Given the description of an element on the screen output the (x, y) to click on. 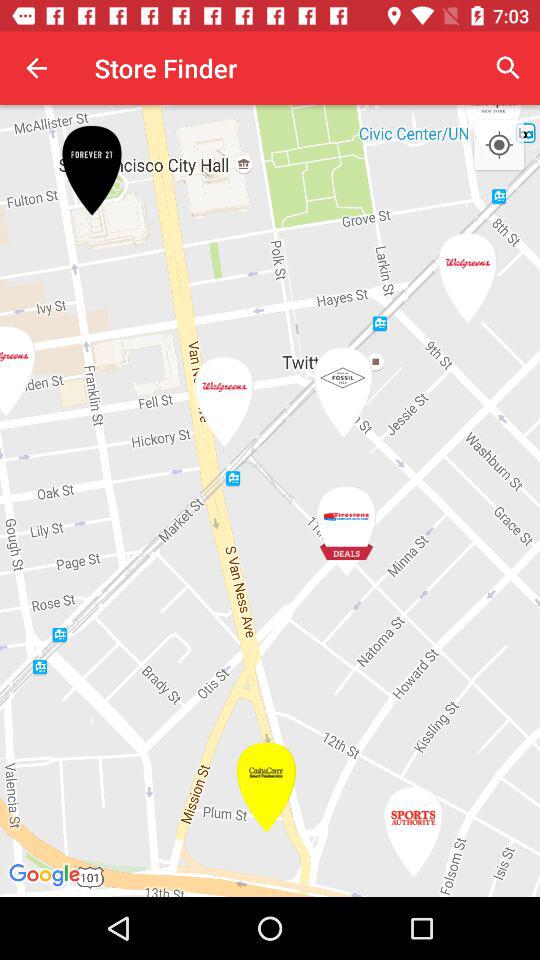
launch the icon next to store finder app (508, 67)
